Given the description of an element on the screen output the (x, y) to click on. 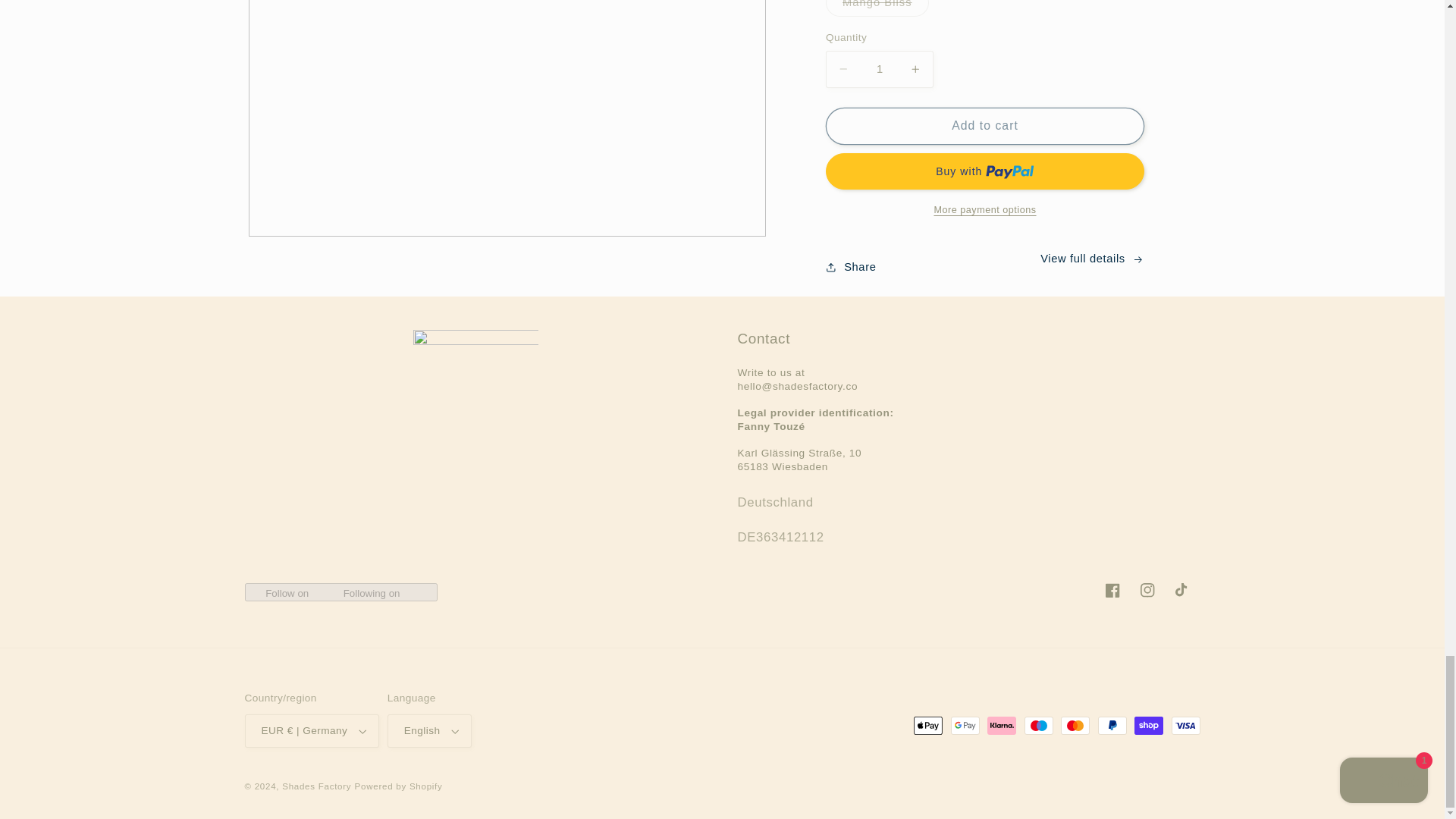
1 (879, 68)
